Given the description of an element on the screen output the (x, y) to click on. 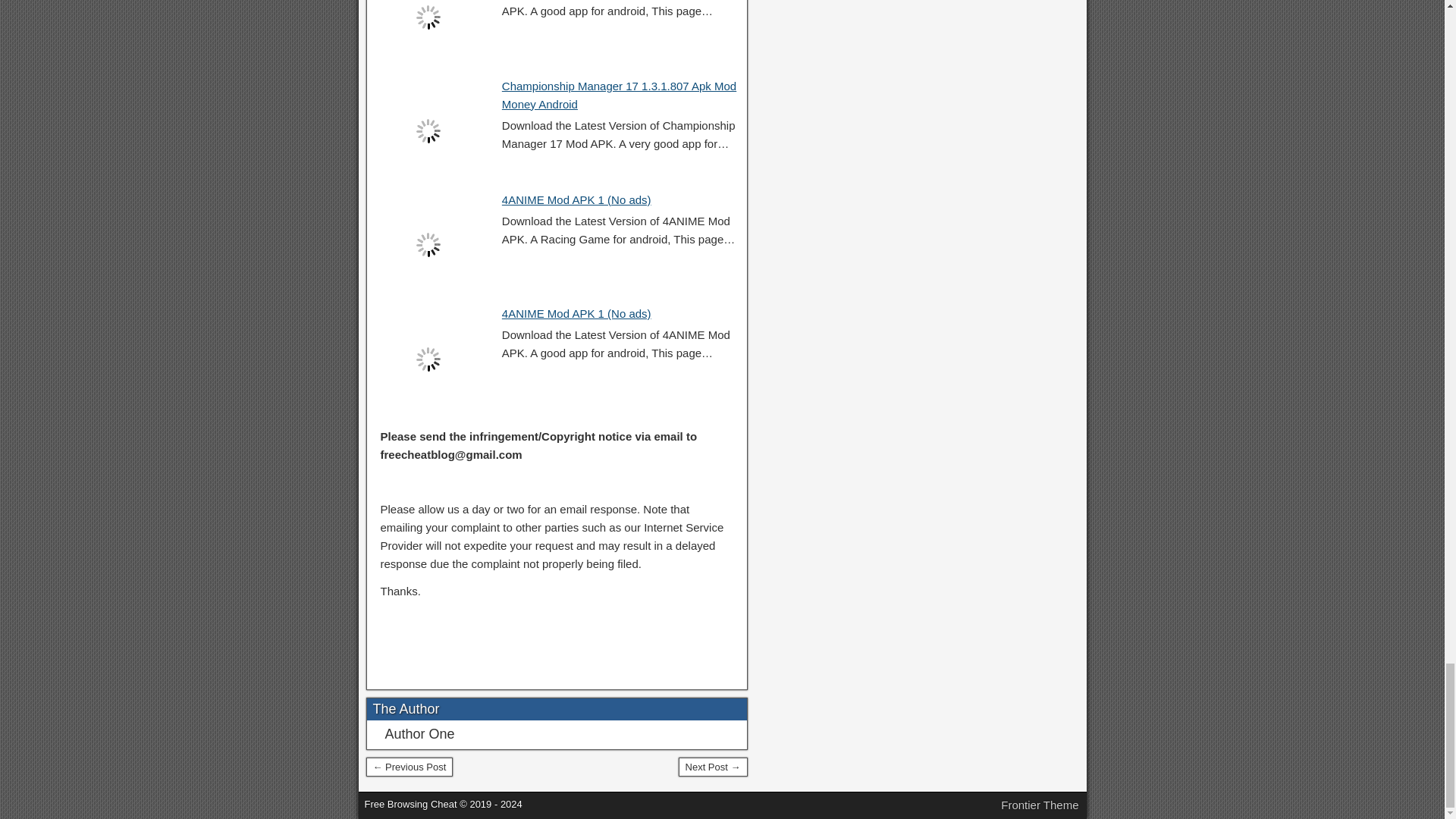
Championship Manager 17 1.3.1.807 Apk Mod Money Android (619, 94)
